Given the description of an element on the screen output the (x, y) to click on. 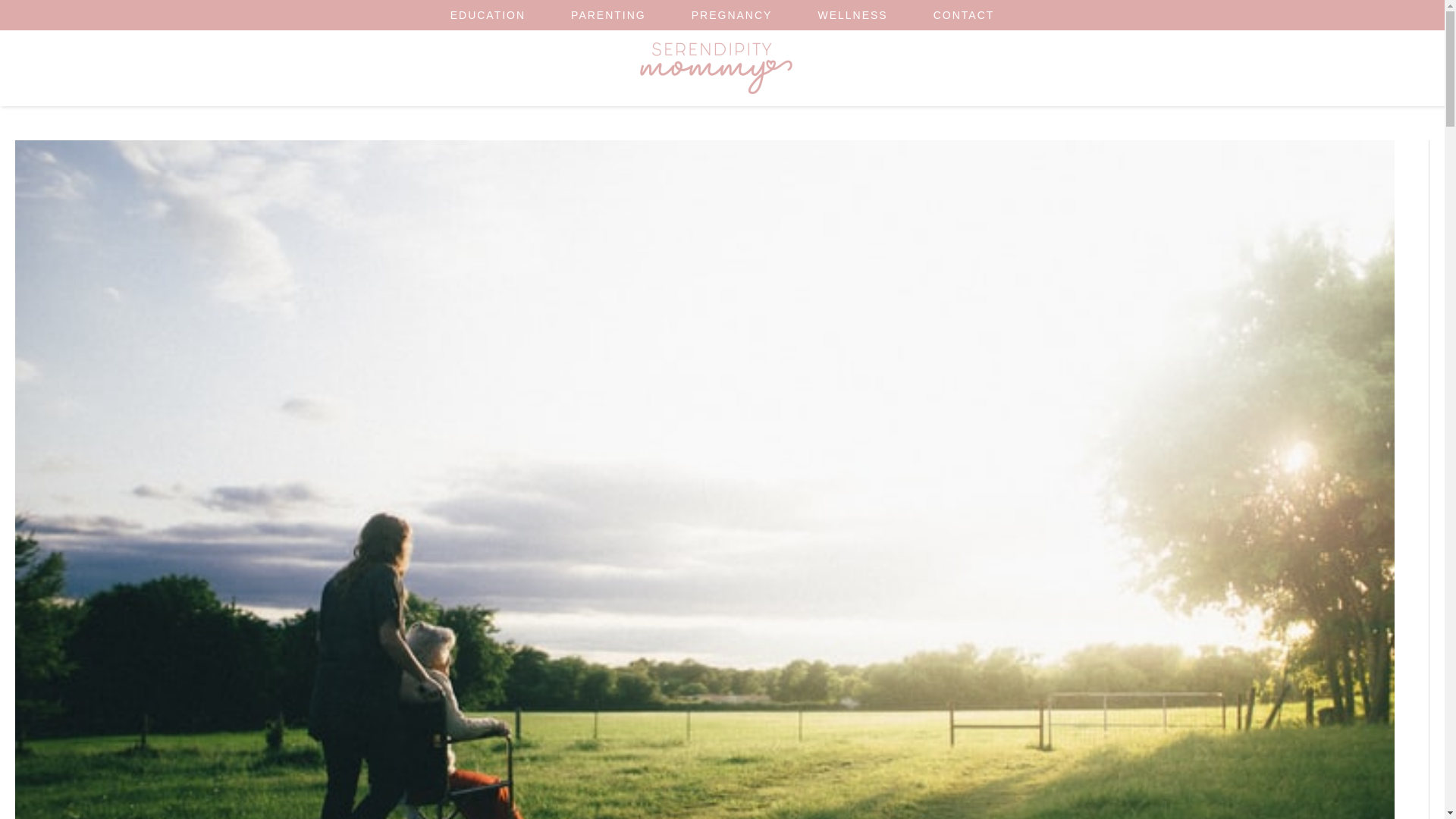
EDUCATION (488, 15)
PARENTING (608, 15)
CONTACT (964, 15)
PREGNANCY (731, 15)
WELLNESS (852, 15)
